Given the description of an element on the screen output the (x, y) to click on. 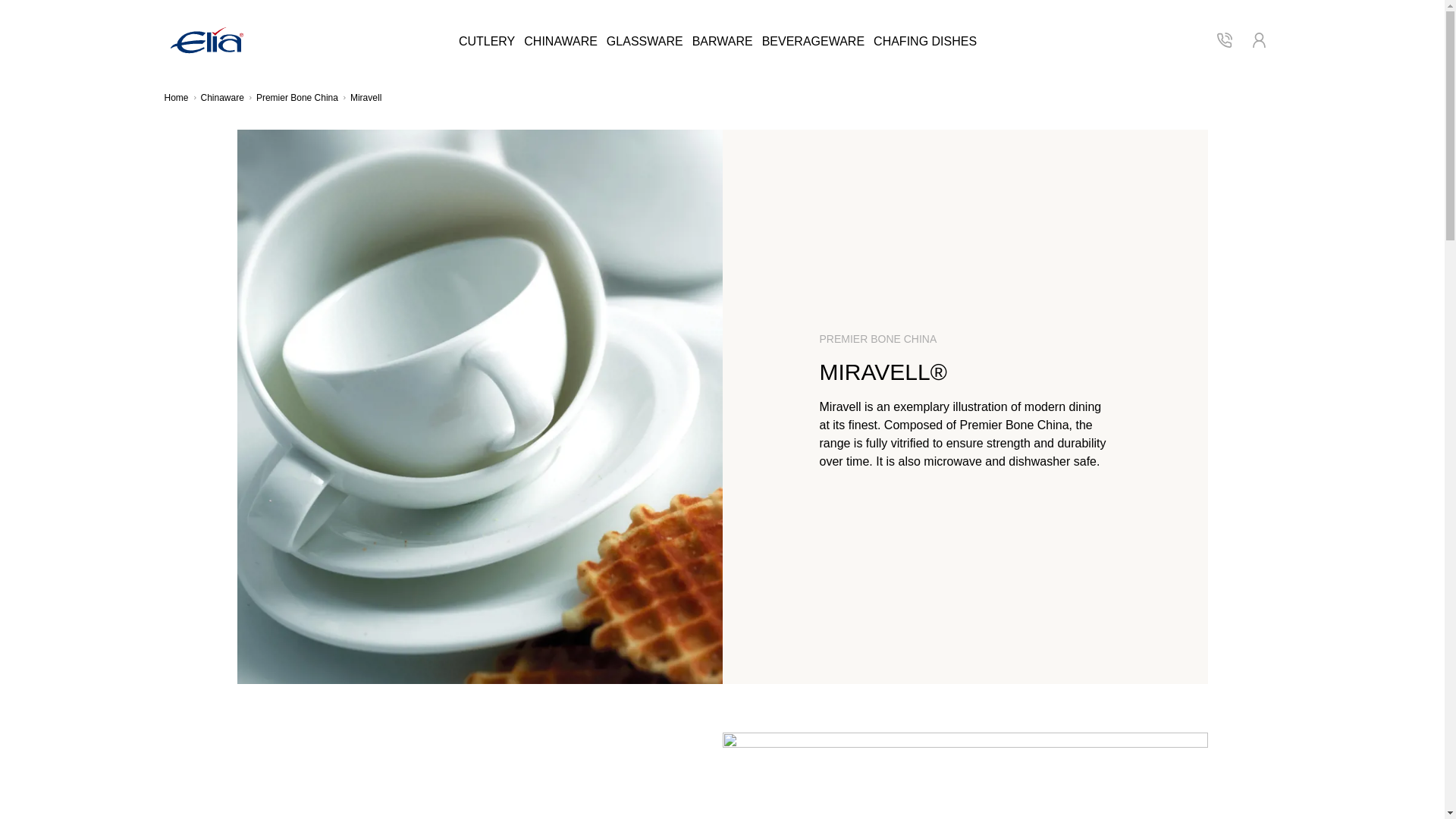
CHINAWARE (560, 41)
Chinaware (222, 97)
BEVERAGEWARE (812, 41)
BARWARE (722, 41)
Home (175, 97)
CHAFING DISHES (924, 41)
Login (1258, 39)
CUTLERY (486, 41)
GLASSWARE (644, 41)
Contact us (1223, 38)
